Given the description of an element on the screen output the (x, y) to click on. 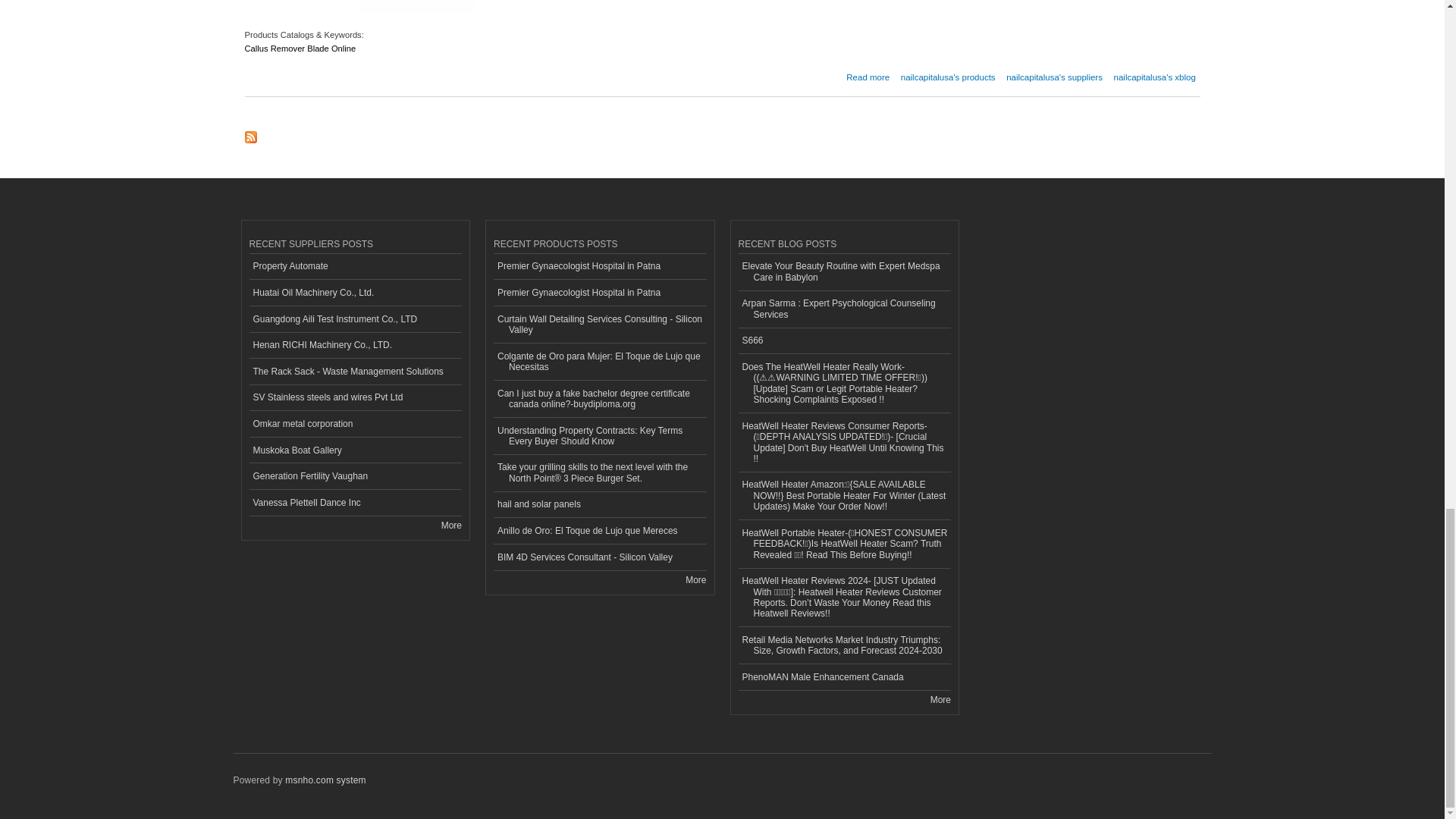
Read nailcapitalusa's latest products entries. (948, 71)
nailcapitalusa's products (948, 71)
DND DC Beautiful 126 (867, 71)
nailcapitalusa's xblog (1154, 71)
Callus Remover Blade Online (299, 53)
nailcapitalusa's suppliers (867, 71)
Read nailcapitalusa's latest suppliers entries. (1054, 71)
Read nailcapitalusa's latest xblog entries. (1054, 71)
